Given the description of an element on the screen output the (x, y) to click on. 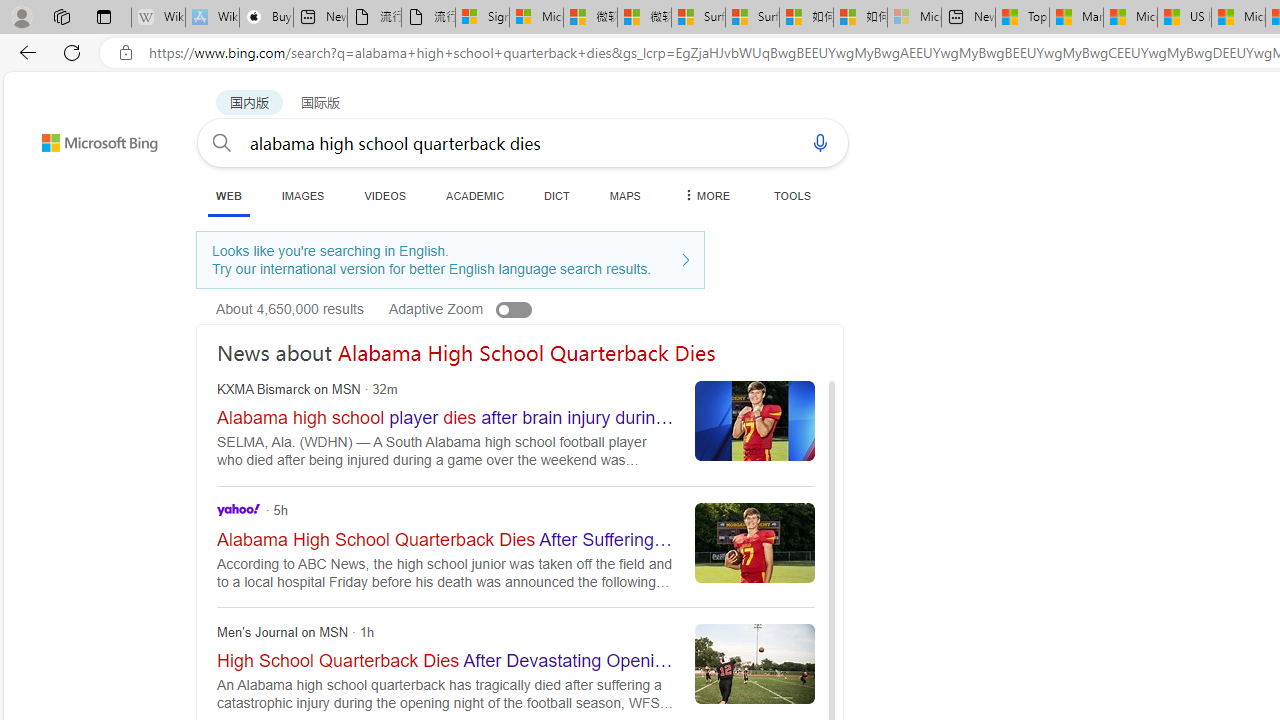
WEB (228, 196)
MORE (705, 195)
Dropdown Menu (705, 195)
